Given the description of an element on the screen output the (x, y) to click on. 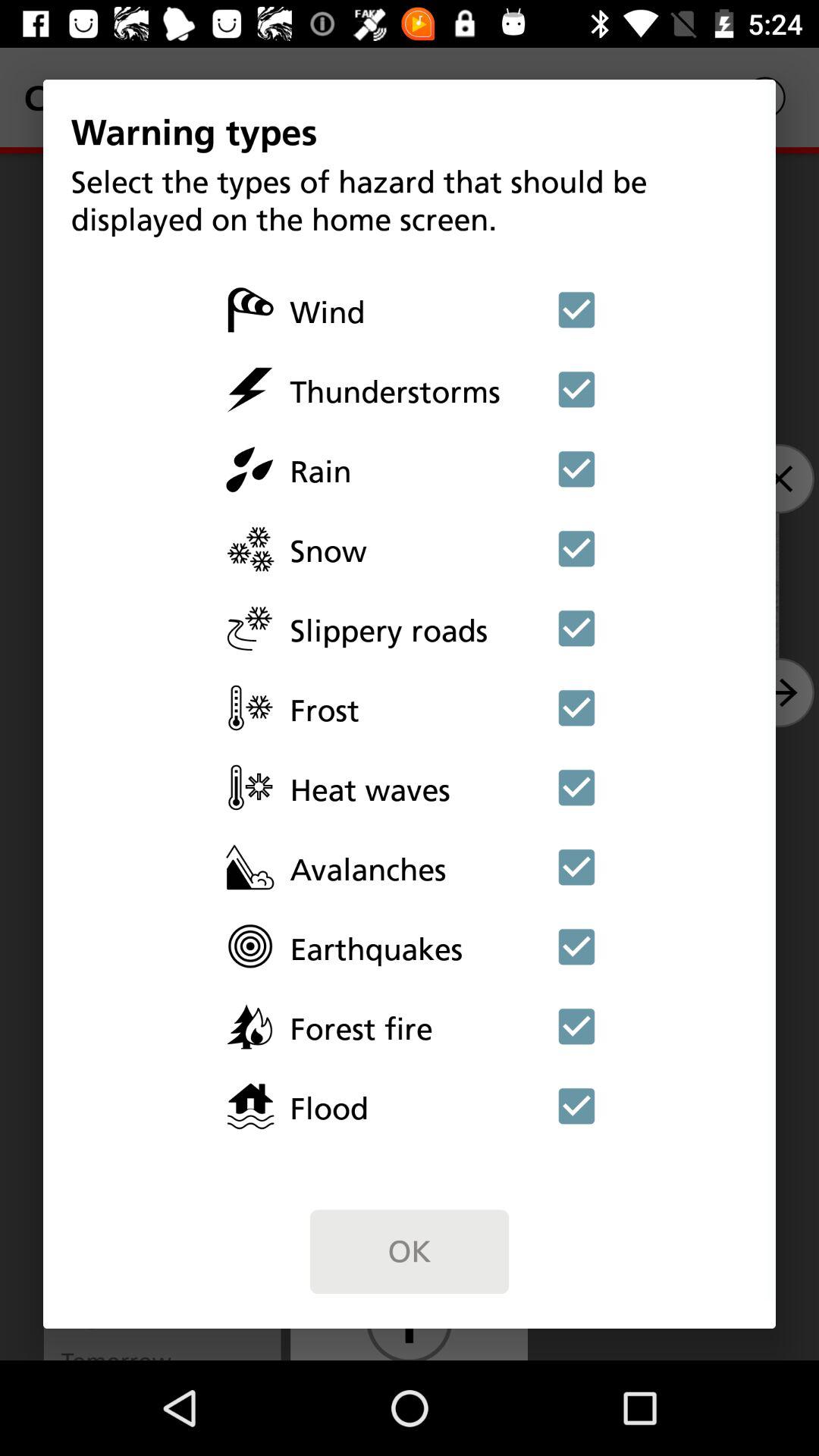
press the ok (409, 1251)
